Given the description of an element on the screen output the (x, y) to click on. 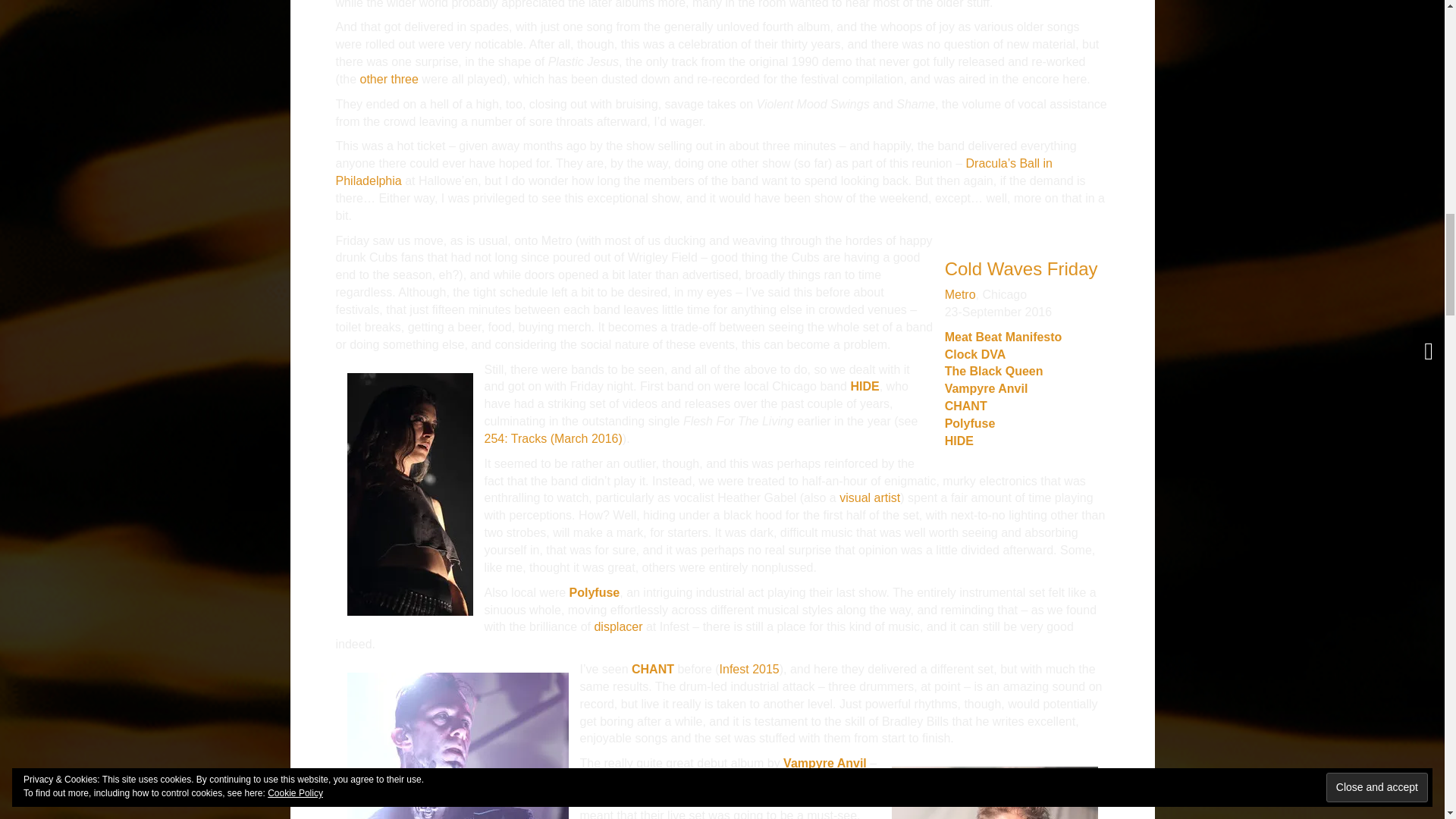
CHANT: Cold Waves V: Metro, Chicago: 23-Sep 2016 (458, 792)
HIDE: Cold Waves V: Metro, Chicago: 23-Sep 2016 (410, 492)
